Given the description of an element on the screen output the (x, y) to click on. 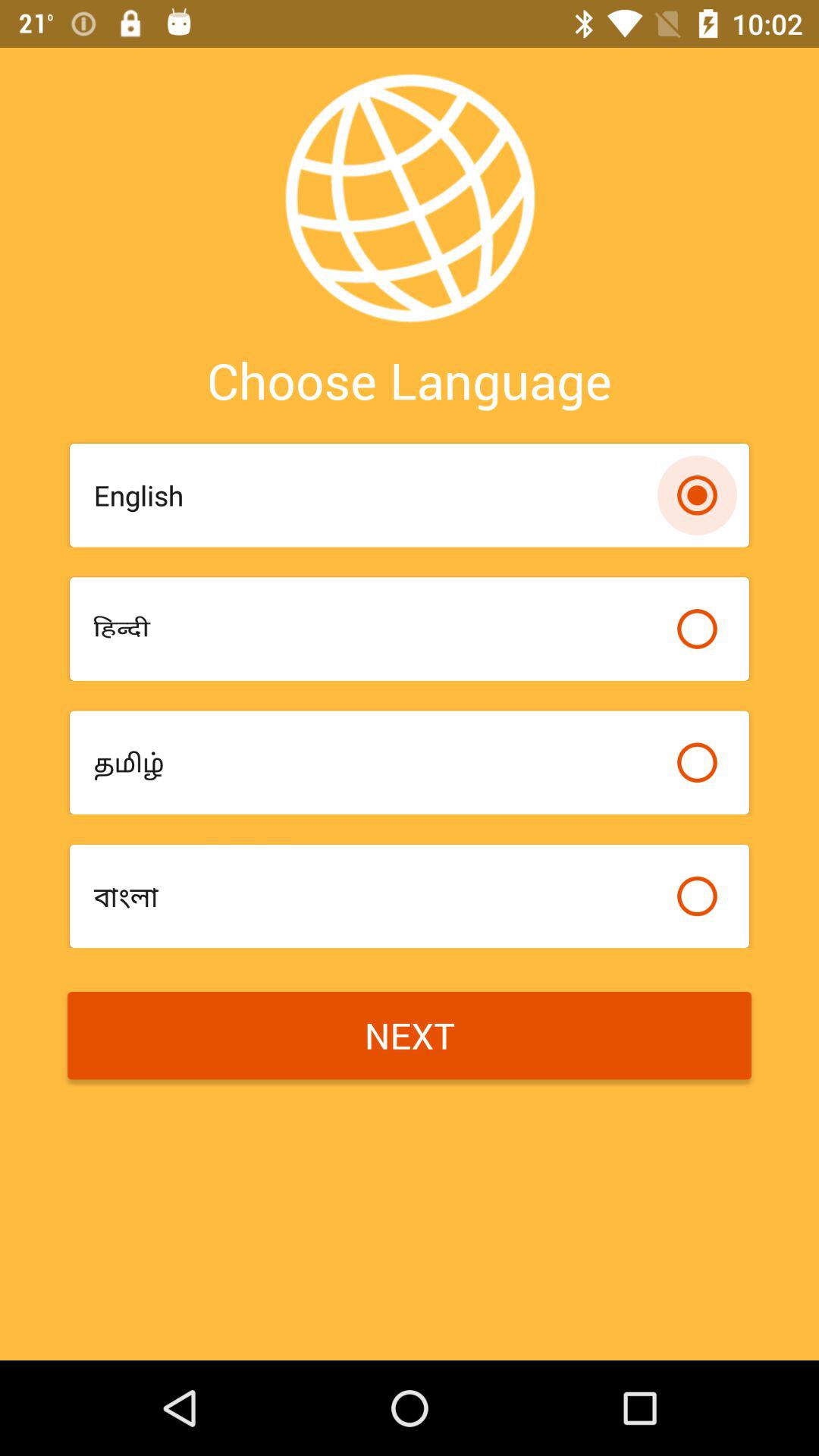
turn on icon below the choose language item (377, 495)
